Given the description of an element on the screen output the (x, y) to click on. 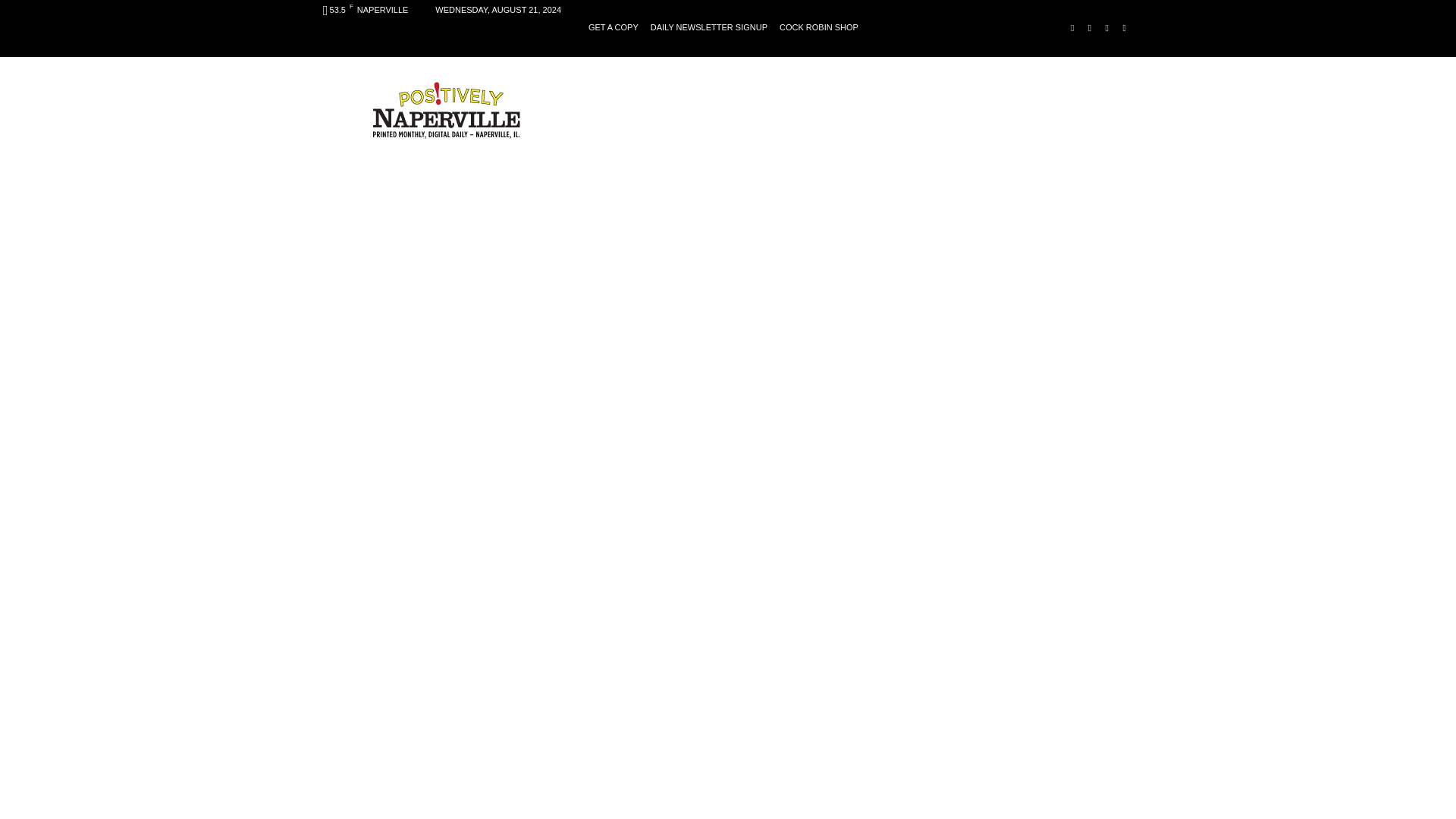
GET A COPY (613, 27)
COCK ROBIN SHOP (818, 27)
Twitter (1123, 27)
Instagram (1090, 27)
Facebook (1072, 27)
DAILY NEWSLETTER SIGNUP (708, 27)
Positively Naperville (445, 109)
RSS (1106, 27)
Positively Naperville (446, 109)
